Given the description of an element on the screen output the (x, y) to click on. 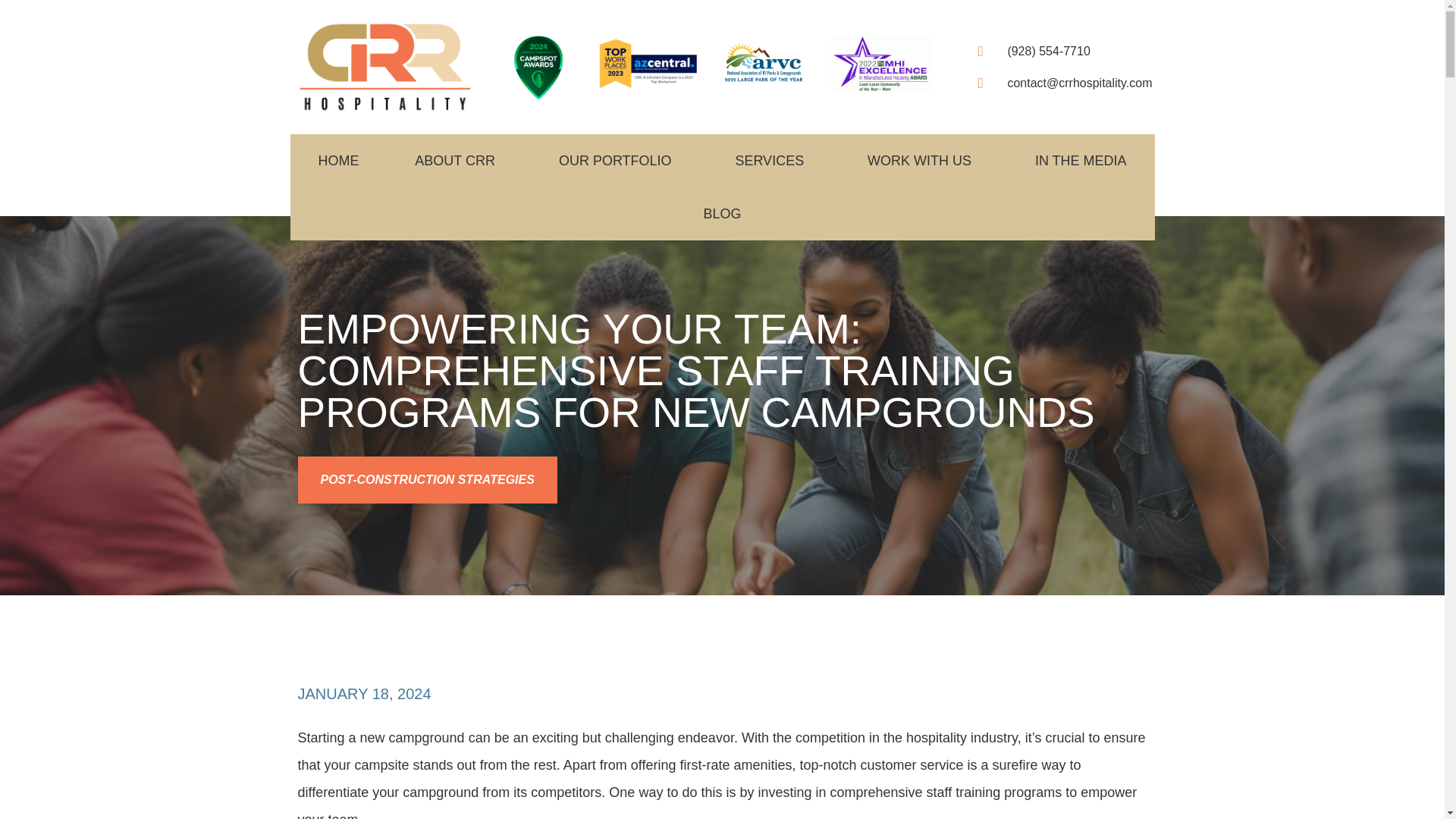
SERVICES (773, 160)
WORK WITH US (923, 160)
BLOG (721, 213)
IN THE MEDIA (1080, 160)
HOME (338, 160)
OUR PORTFOLIO (619, 160)
ABOUT CRR (459, 160)
